Given the description of an element on the screen output the (x, y) to click on. 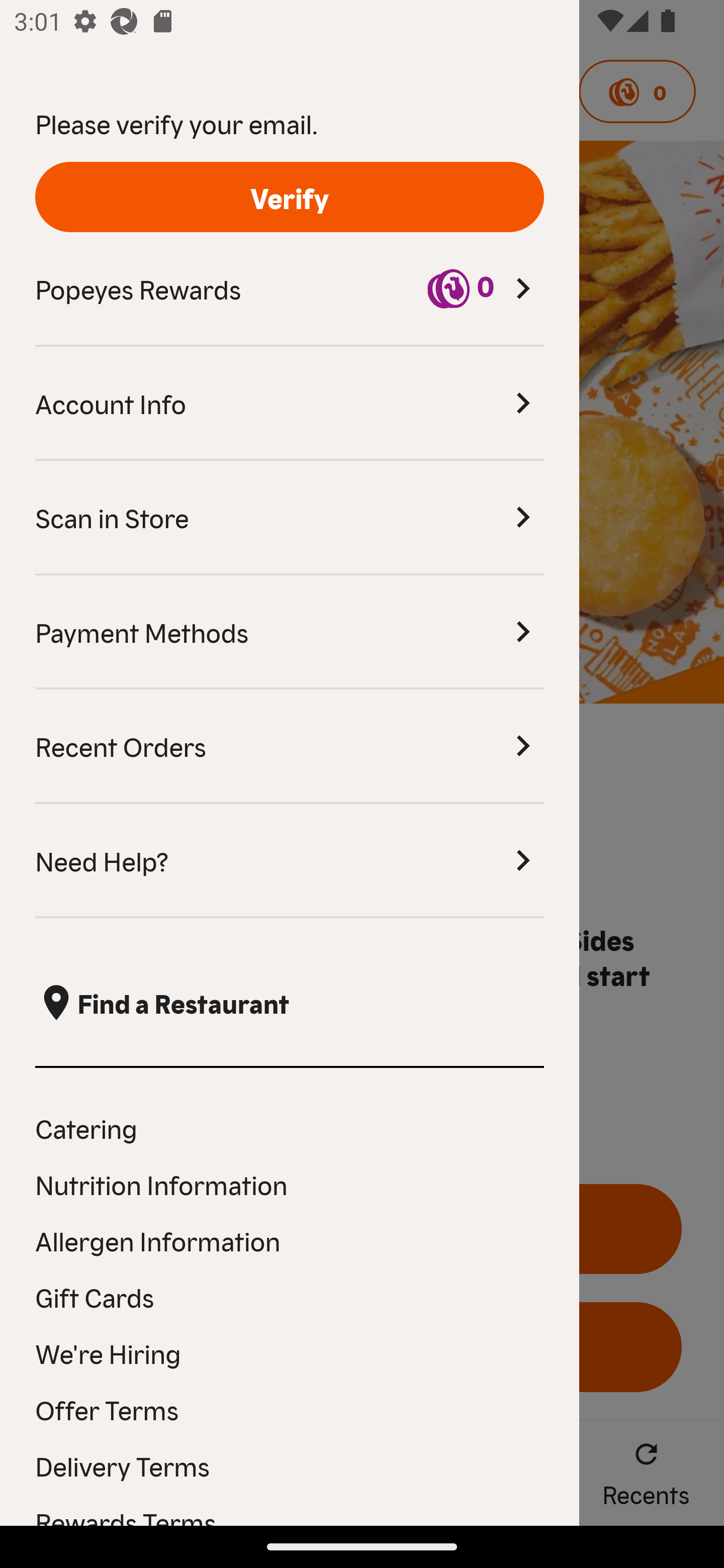
Verify (289, 196)
Account Info Account Info  (289, 403)
Scan in Store Scan in Store  (289, 517)
Payment Methods Payment Methods  (289, 632)
Recent Orders Recent Orders  (289, 746)
Need Help? Need Help?  (289, 861)
, Find a Restaurant  Find a Restaurant (289, 1002)
Catering (289, 1127)
Nutrition Information (289, 1183)
Allergen Information (289, 1240)
Gift Cards (289, 1296)
We're Hiring (289, 1352)
Offer Terms (289, 1409)
Delivery Terms (289, 1465)
